Given the description of an element on the screen output the (x, y) to click on. 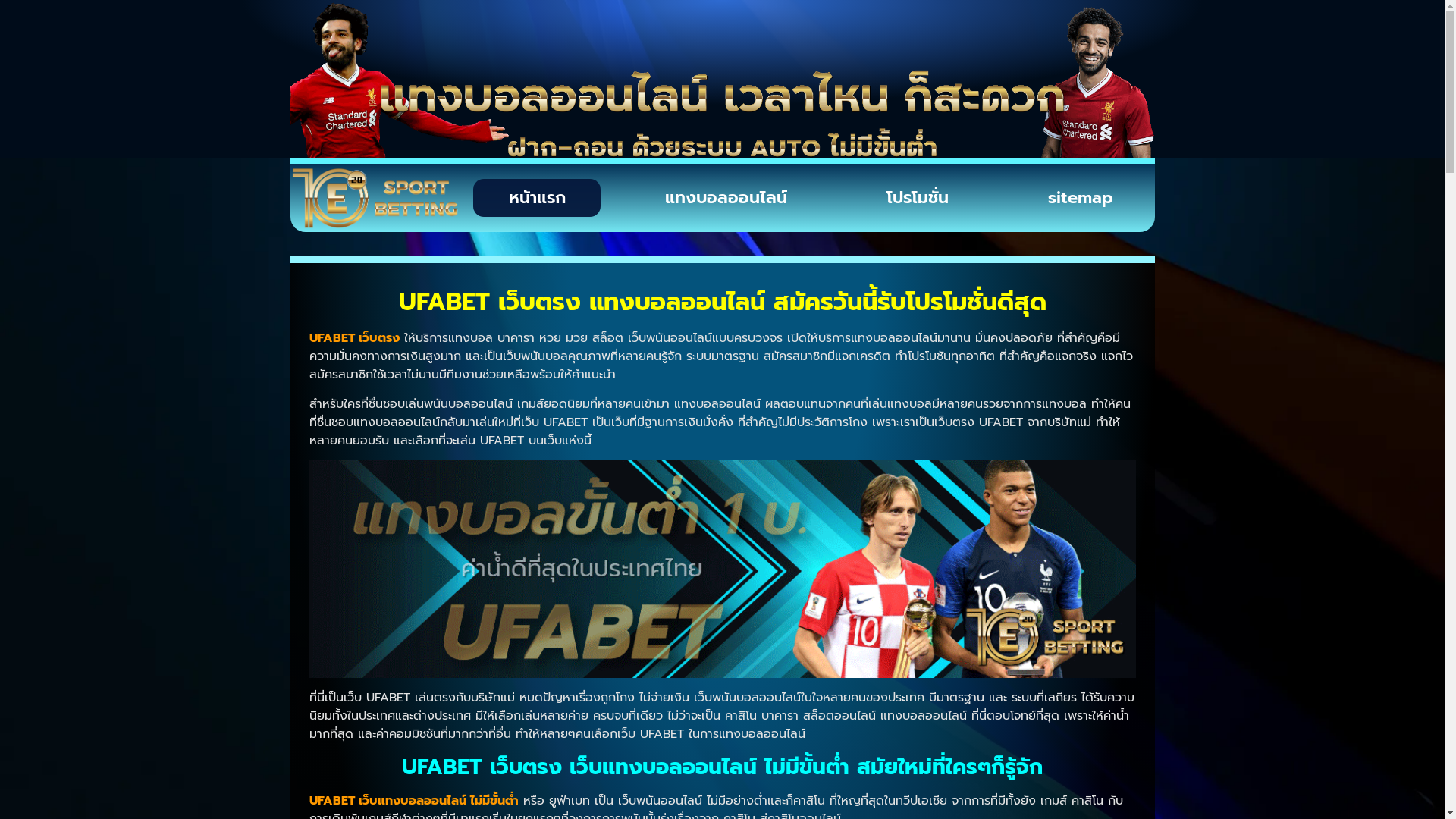
sitemap Element type: text (1080, 197)
